Given the description of an element on the screen output the (x, y) to click on. 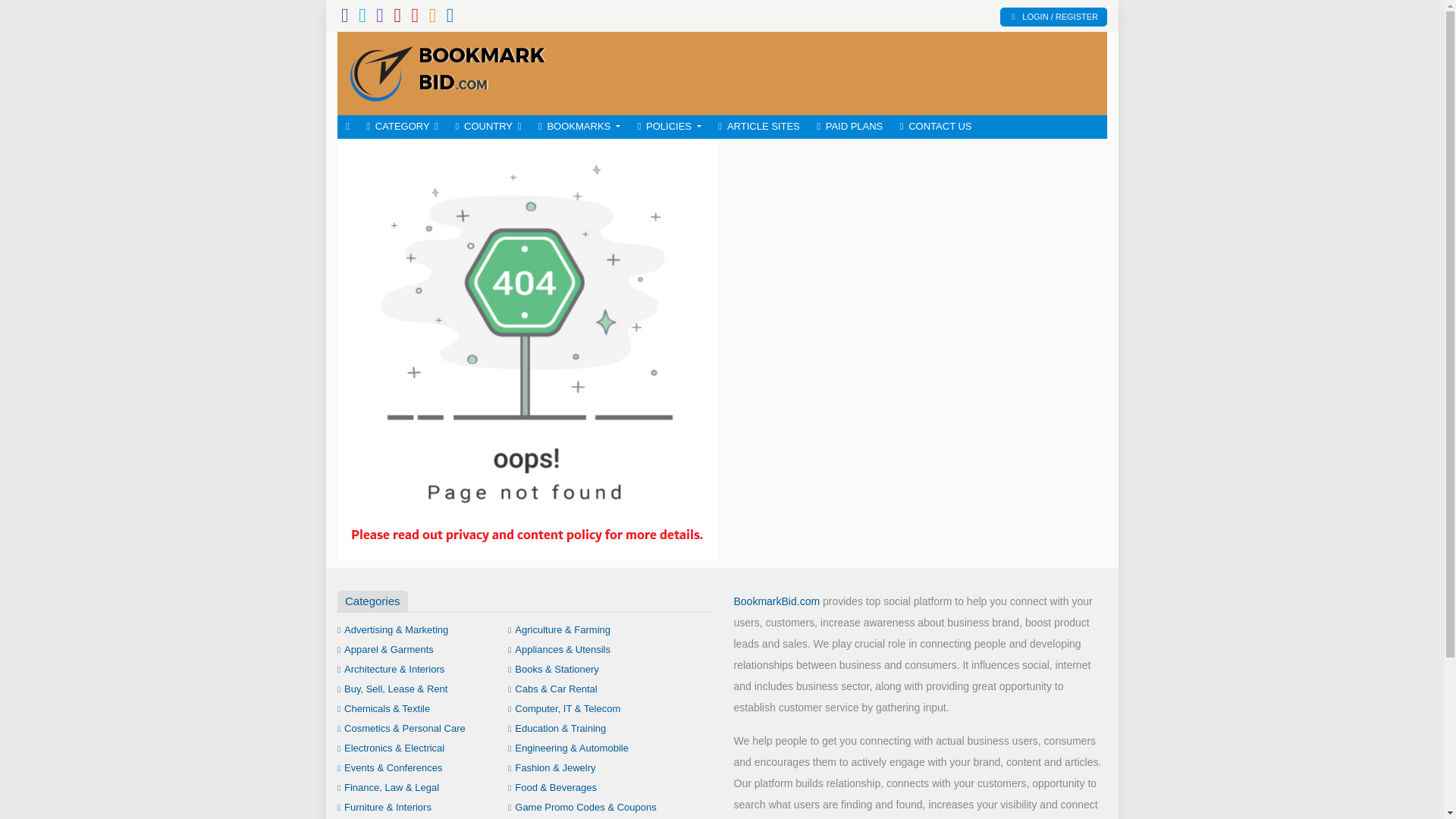
Pinterest (397, 18)
Instagram (379, 18)
Facebook (344, 18)
Linked In (450, 18)
Twitter (362, 18)
RSS Feed (432, 18)
Great Platform to Store, Manage and Share Bookmarks (447, 71)
YouTube (414, 18)
CATEGORY (402, 126)
COUNTRY (487, 126)
HOME (347, 126)
